Given the description of an element on the screen output the (x, y) to click on. 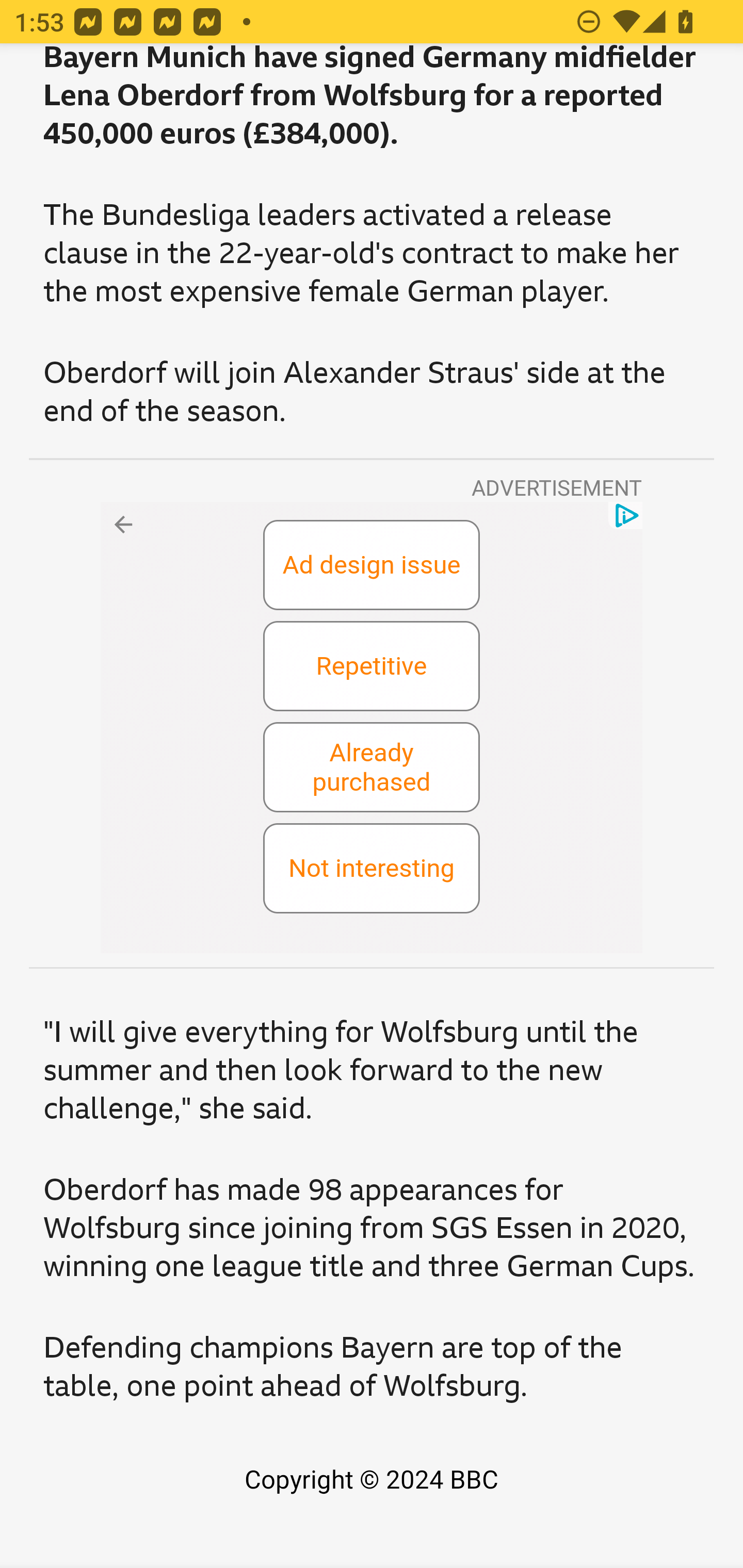
privacy_small (624, 515)
back_button2 (121, 523)
Ad design issue (372, 565)
Repetitive (372, 666)
Already purchased (372, 767)
Not interesting (372, 869)
